Given the description of an element on the screen output the (x, y) to click on. 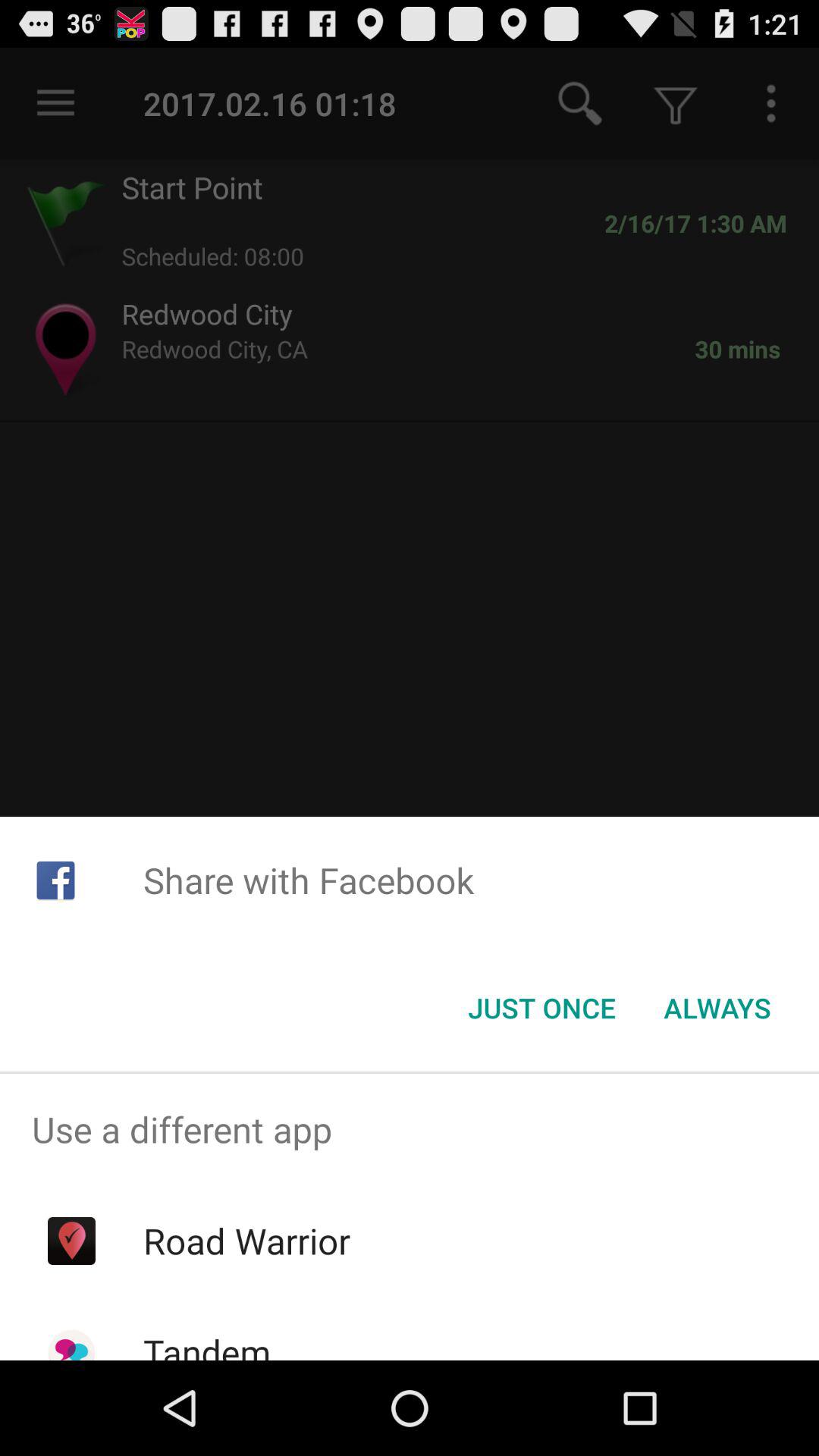
swipe to always item (717, 1007)
